Given the description of an element on the screen output the (x, y) to click on. 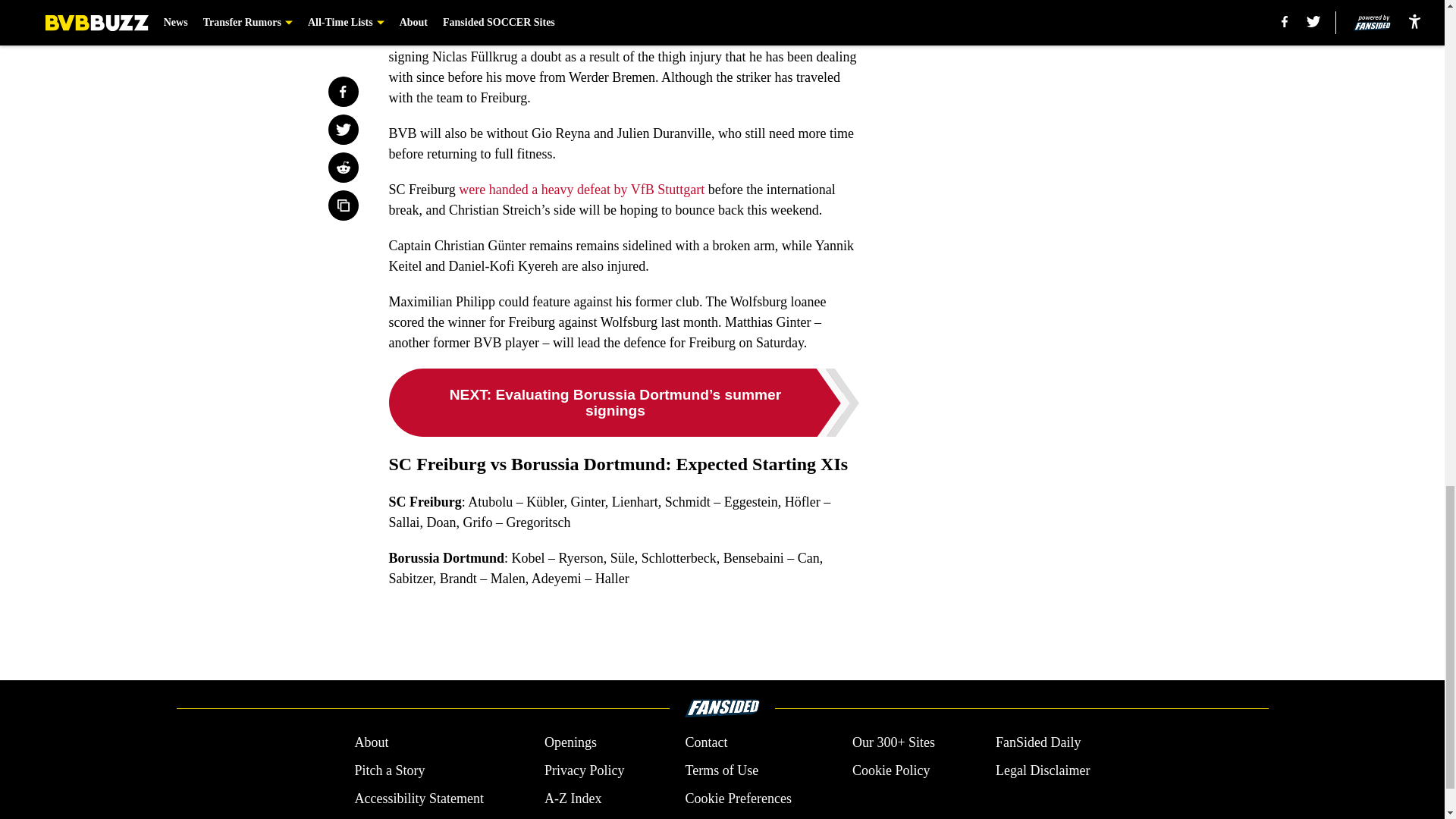
Openings (570, 742)
About (370, 742)
Pitch a Story (389, 770)
Privacy Policy (584, 770)
Terms of Use (721, 770)
Contact (705, 742)
FanSided Daily (1038, 742)
Legal Disclaimer (1042, 770)
Cookie Policy (890, 770)
Accessibility Statement (418, 798)
